Given the description of an element on the screen output the (x, y) to click on. 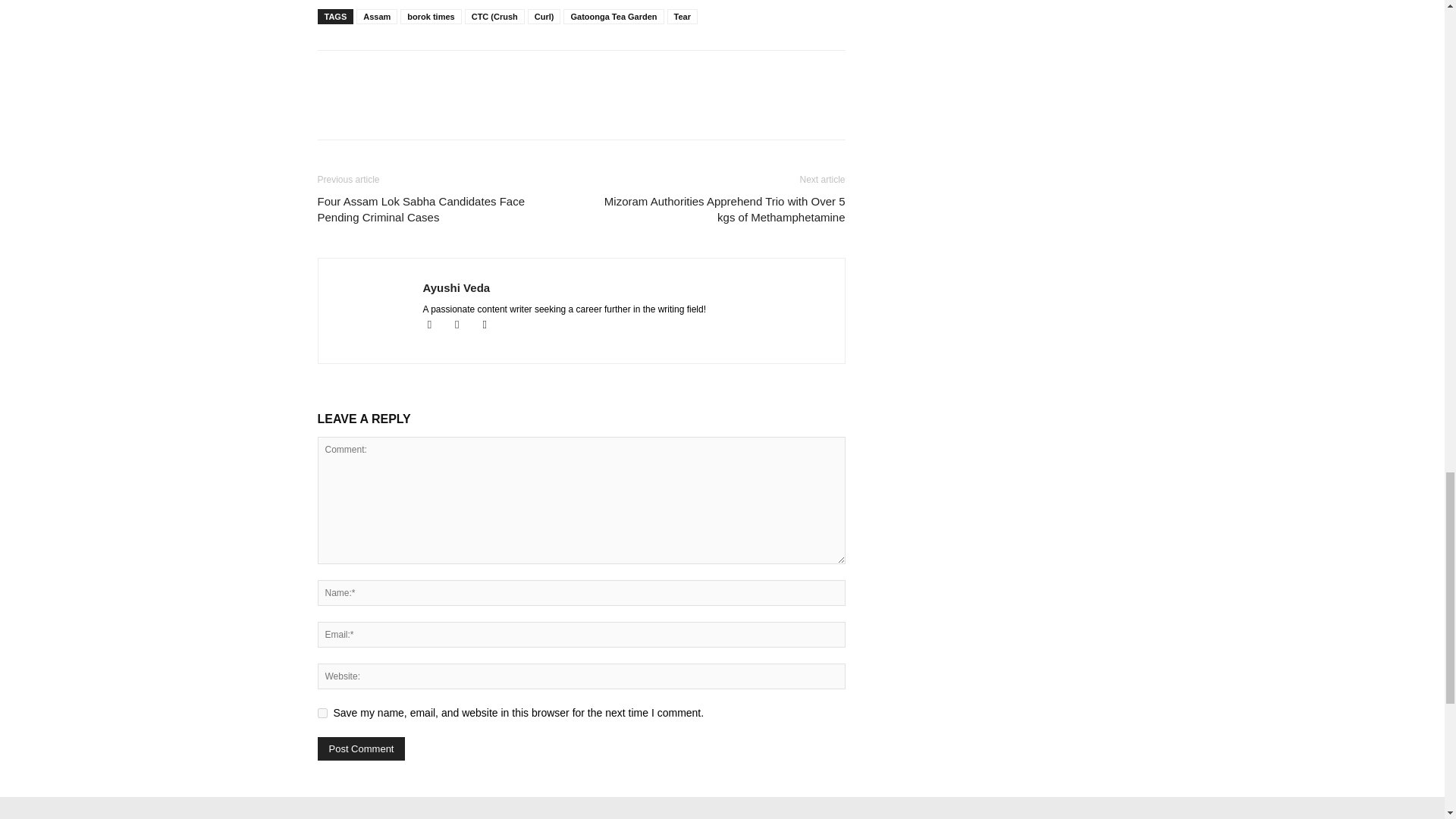
Post Comment (360, 748)
yes (321, 713)
